Given the description of an element on the screen output the (x, y) to click on. 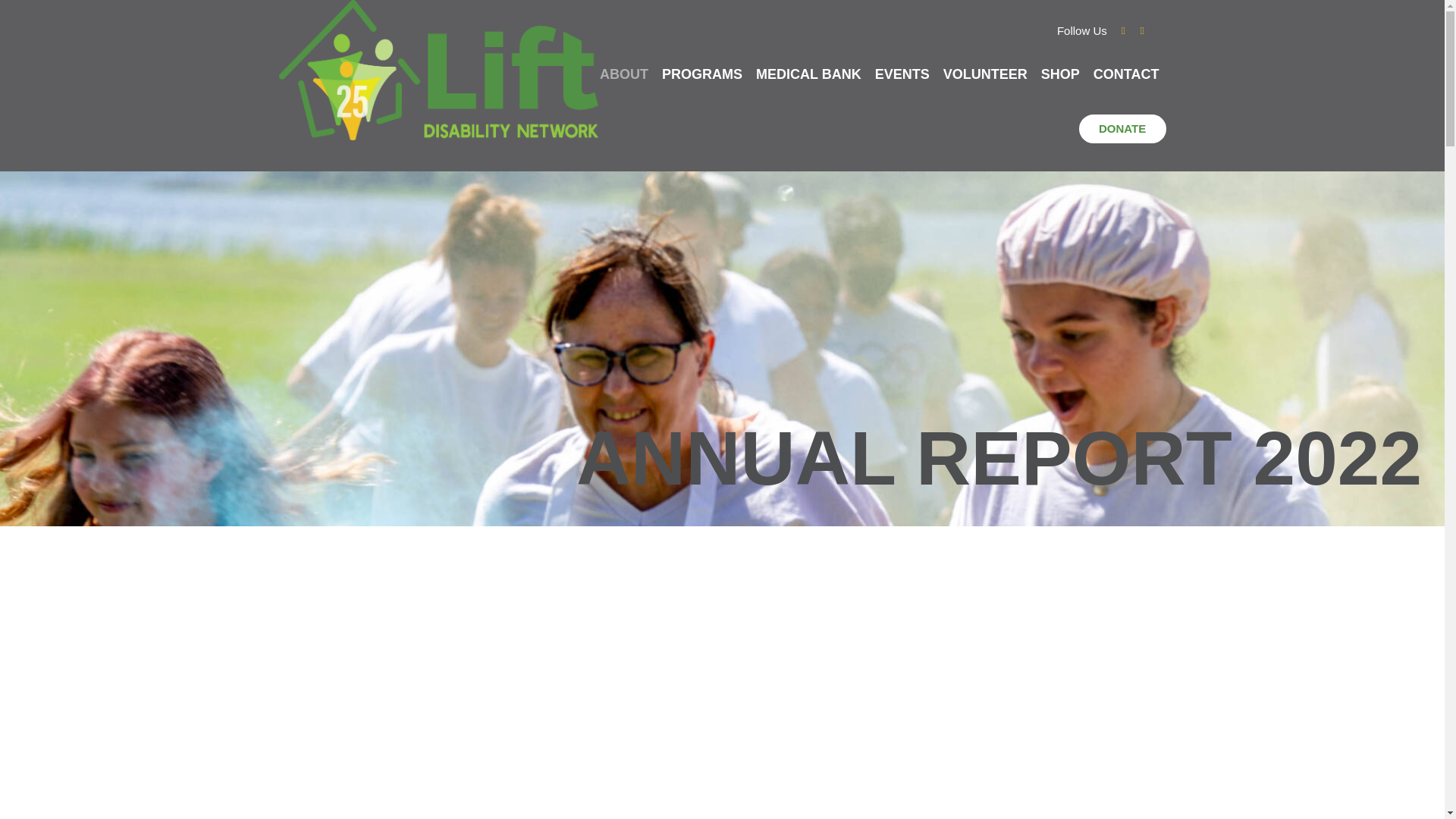
ABOUT (623, 73)
MEDICAL BANK (808, 73)
PROGRAMS (702, 73)
EVENTS (901, 73)
